Given the description of an element on the screen output the (x, y) to click on. 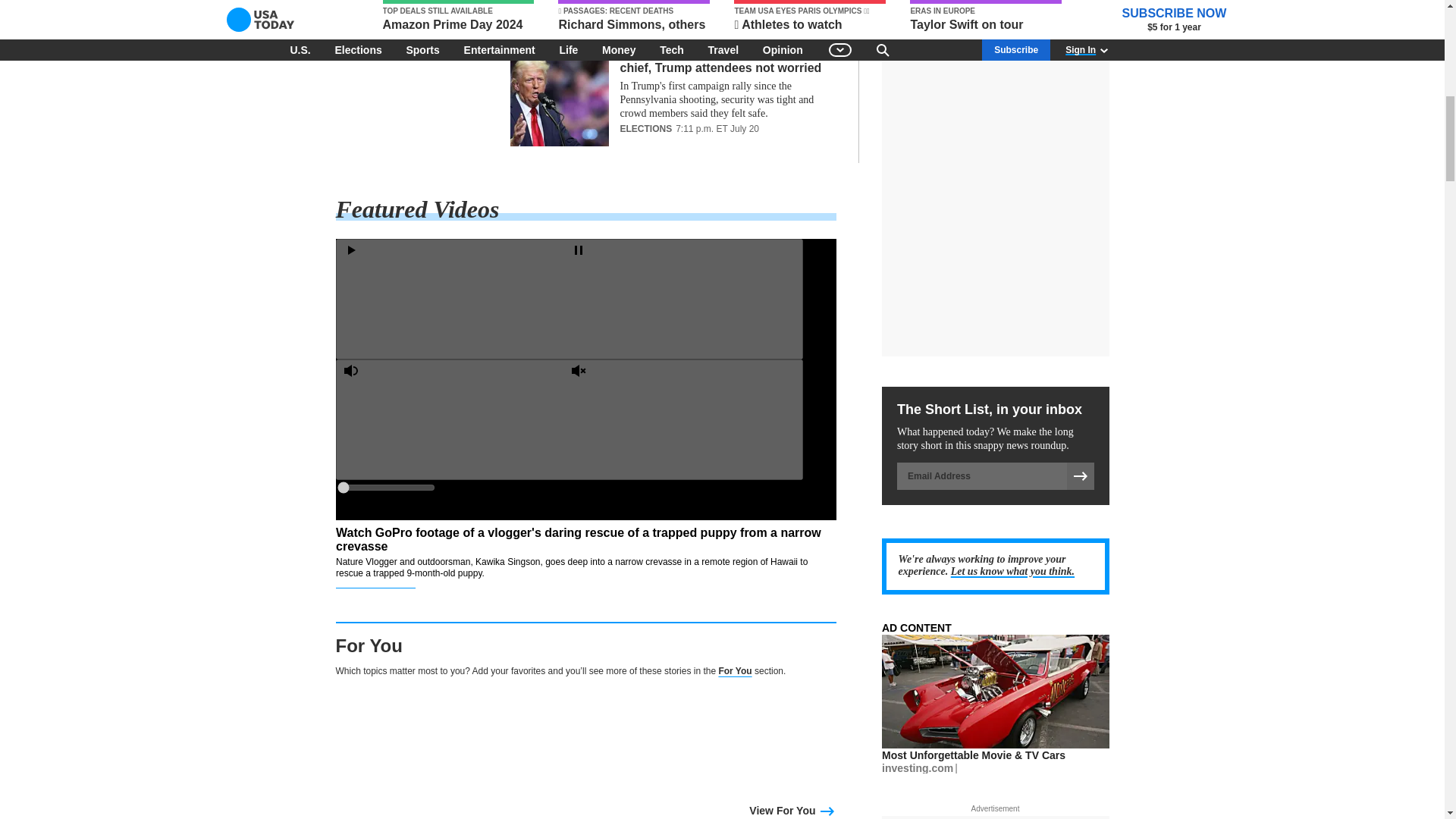
Open Share (694, 594)
Sound Off (682, 418)
0 (384, 487)
Sound On (454, 418)
Enter Full Screen (454, 715)
Play (454, 297)
Exit Full Screen (682, 715)
ClosedCaption (454, 594)
Pause (682, 297)
